Given the description of an element on the screen output the (x, y) to click on. 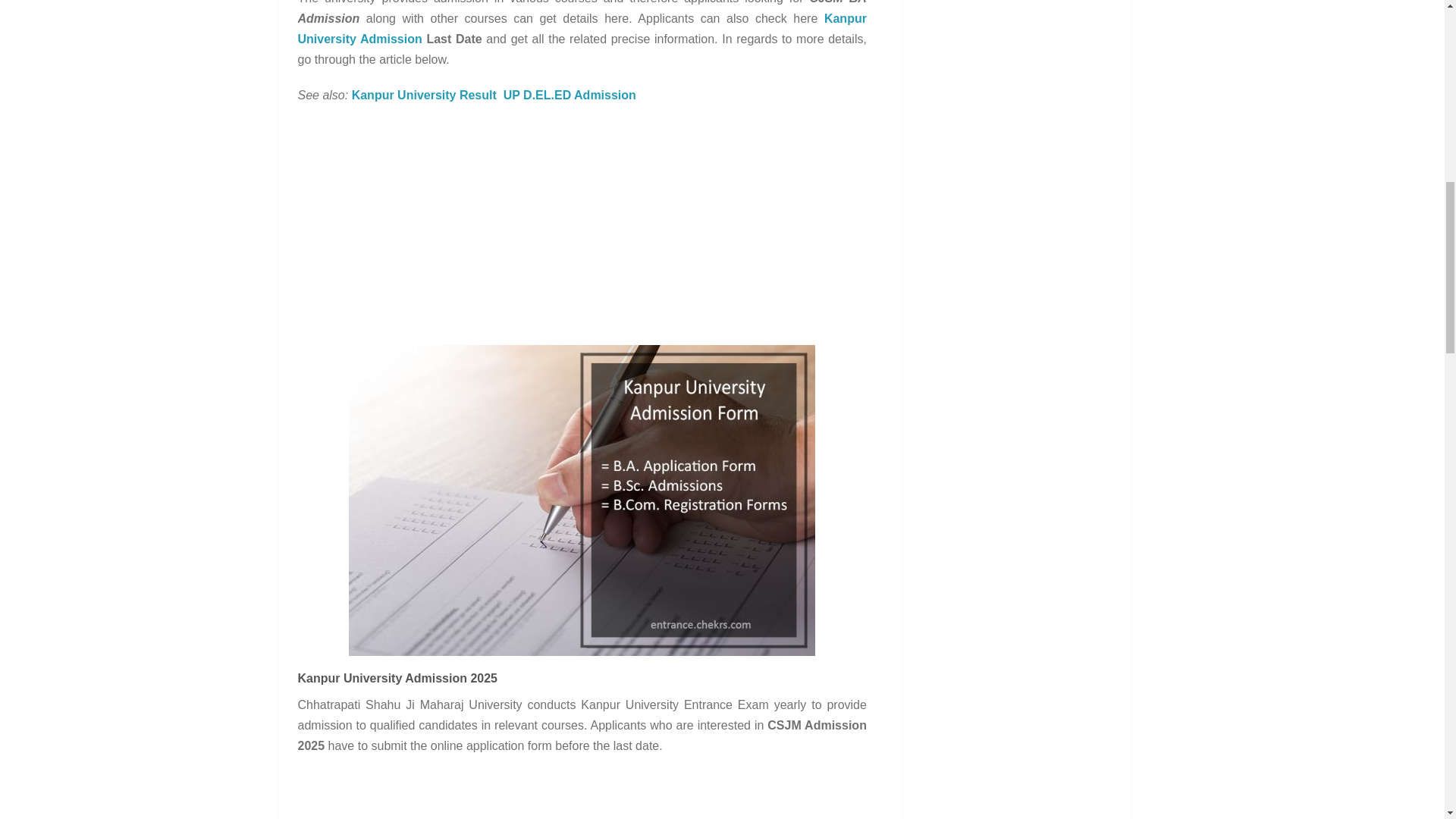
Kanpur University Result (424, 94)
Kanpur University Admission (581, 28)
UP D.EL.ED Admission (569, 94)
